Given the description of an element on the screen output the (x, y) to click on. 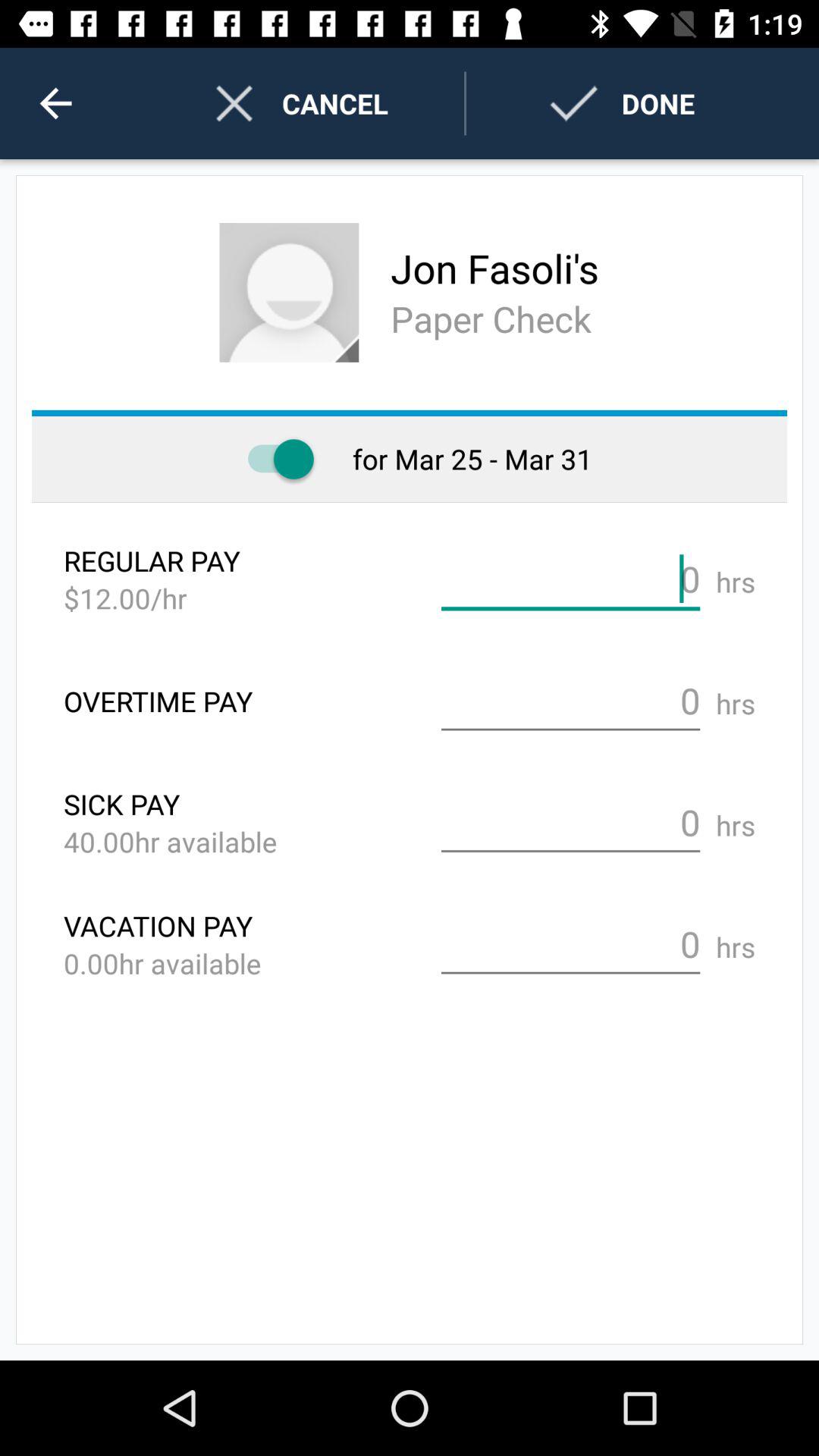
enter number of hours of vacation pay (570, 944)
